Given the description of an element on the screen output the (x, y) to click on. 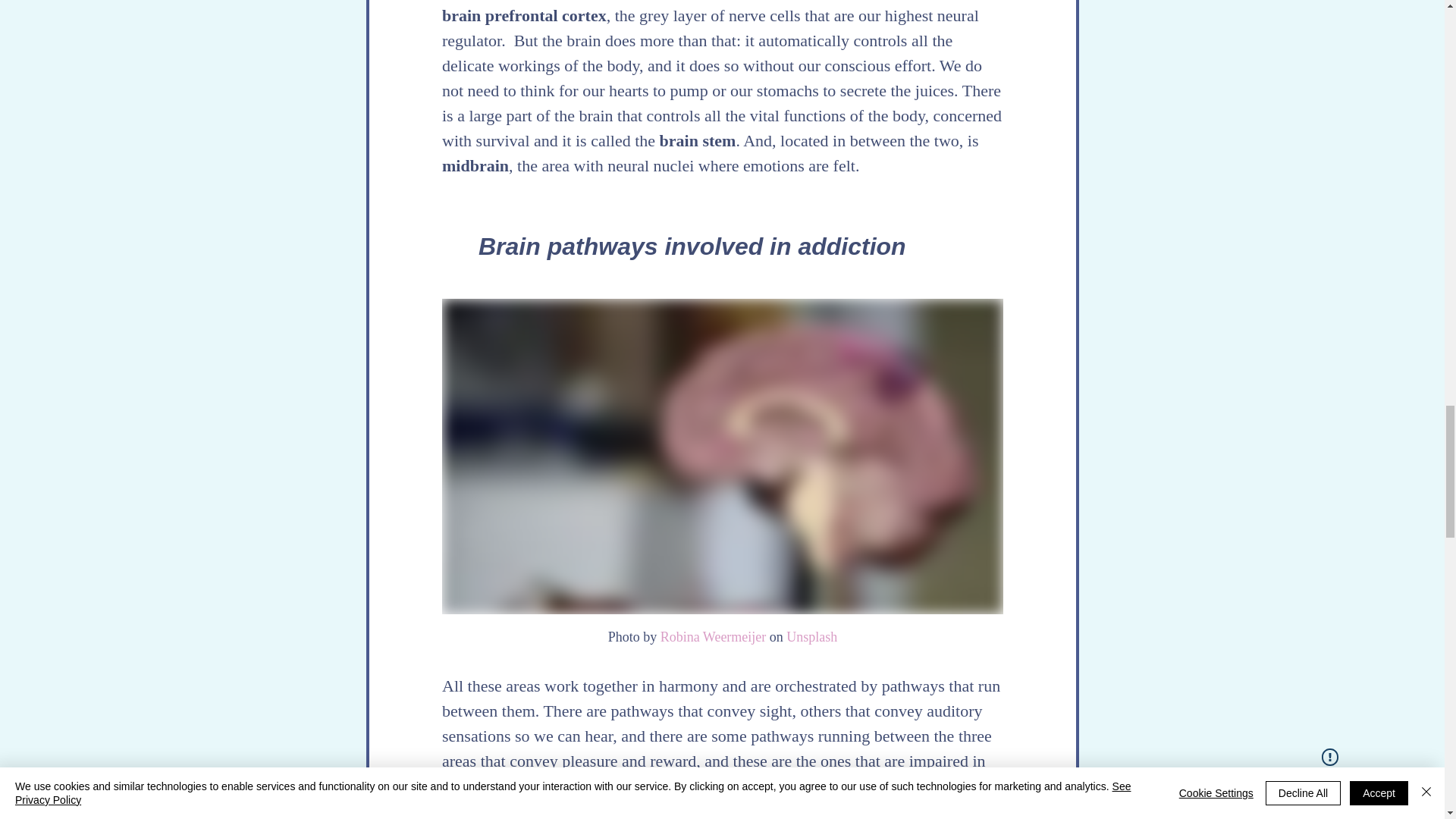
Unsplash (811, 635)
Robina Weermeijer (712, 635)
